Given the description of an element on the screen output the (x, y) to click on. 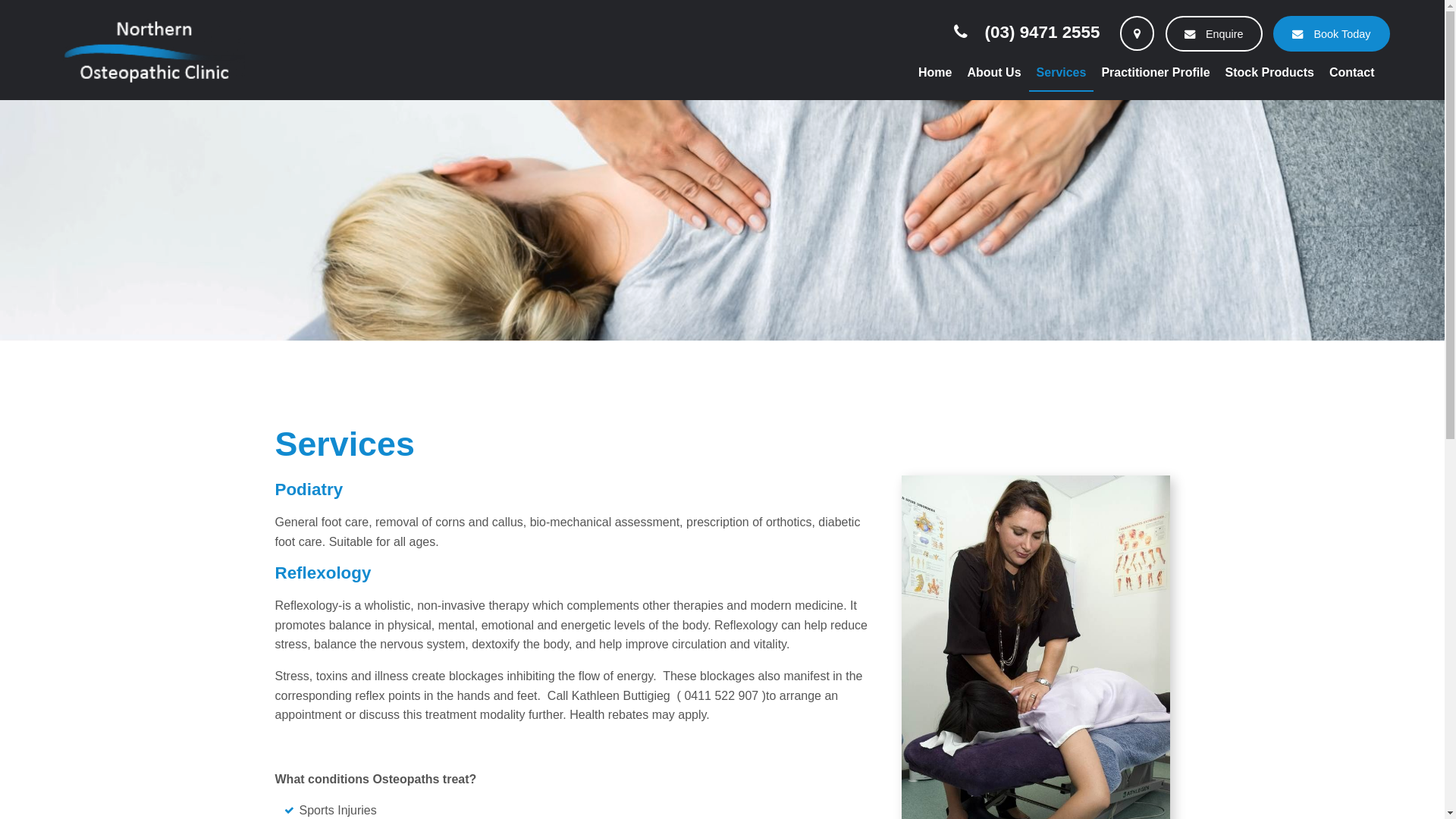
Book Today Element type: text (1331, 33)
Services Element type: text (1061, 73)
Contact Element type: text (1351, 73)
About Us Element type: text (993, 73)
Practitioner Profile Element type: text (1155, 73)
Enquire Element type: text (1213, 33)
Stock Products Element type: text (1269, 73)
Home Element type: text (934, 73)
